Given the description of an element on the screen output the (x, y) to click on. 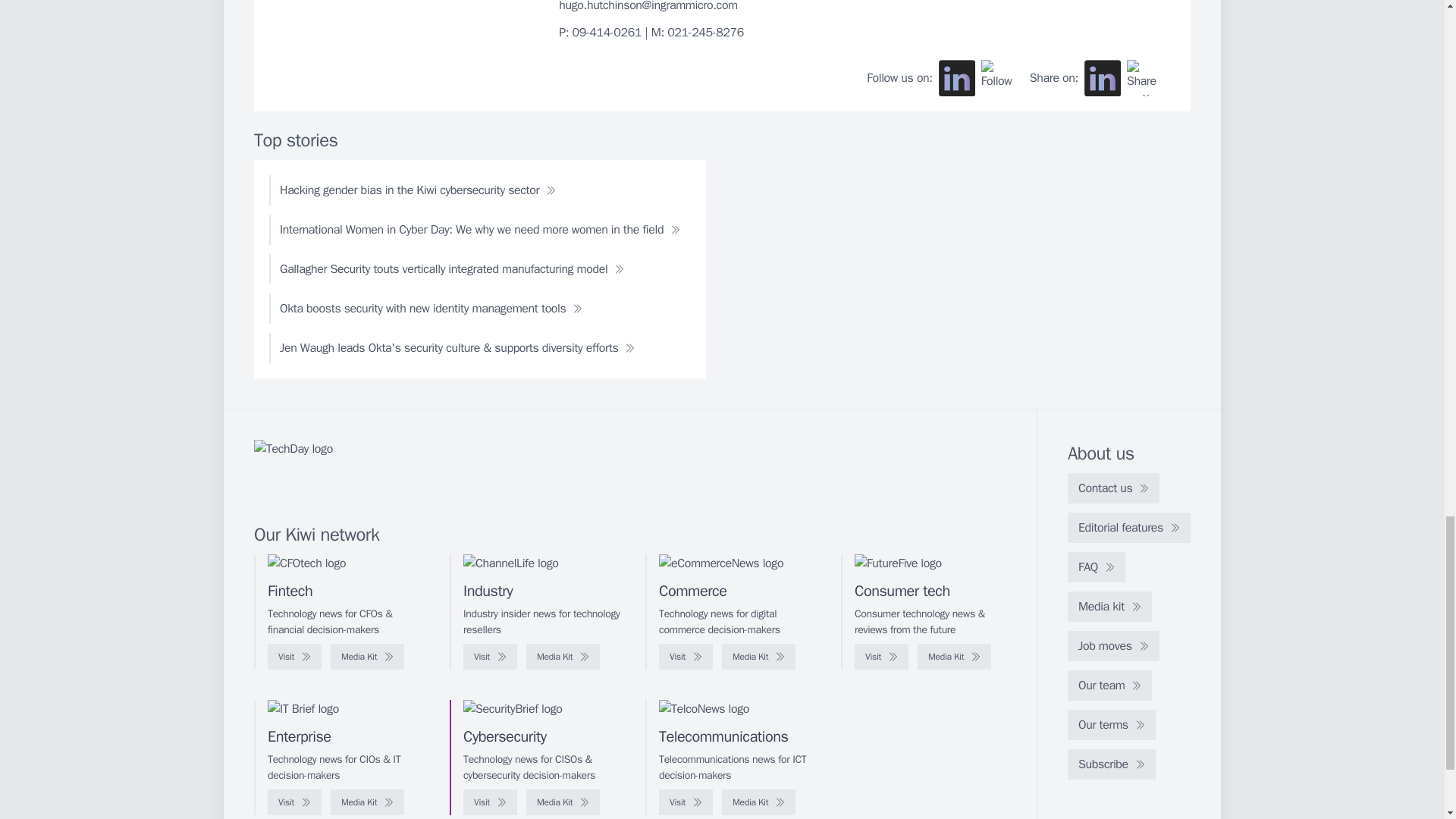
Visit (881, 656)
Visit (294, 656)
Visit (489, 656)
Media Kit (954, 656)
Hacking gender bias in the Kiwi cybersecurity sector (417, 190)
Media Kit (758, 656)
Media Kit (562, 656)
Visit (686, 656)
Okta boosts security with new identity management tools (430, 308)
